Given the description of an element on the screen output the (x, y) to click on. 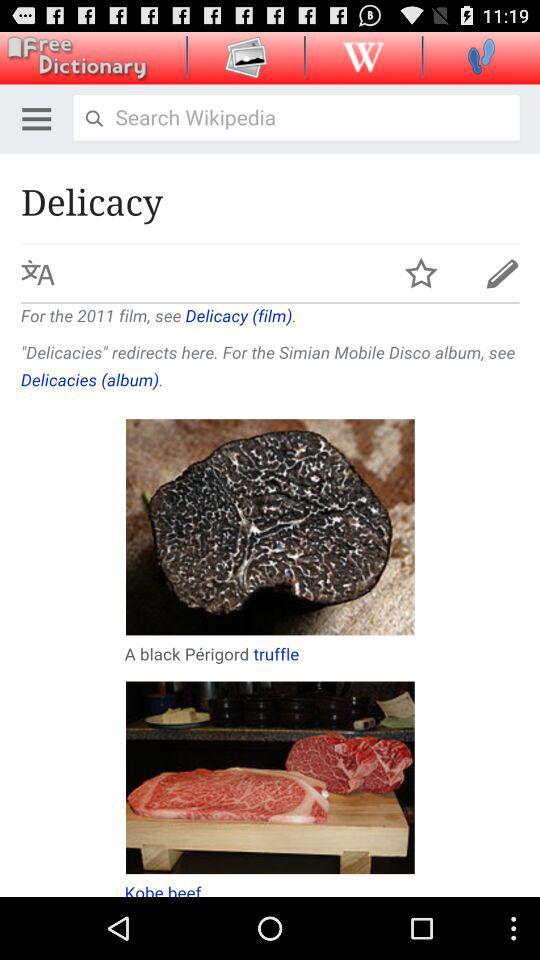
select the wikipedia option (363, 56)
